Given the description of an element on the screen output the (x, y) to click on. 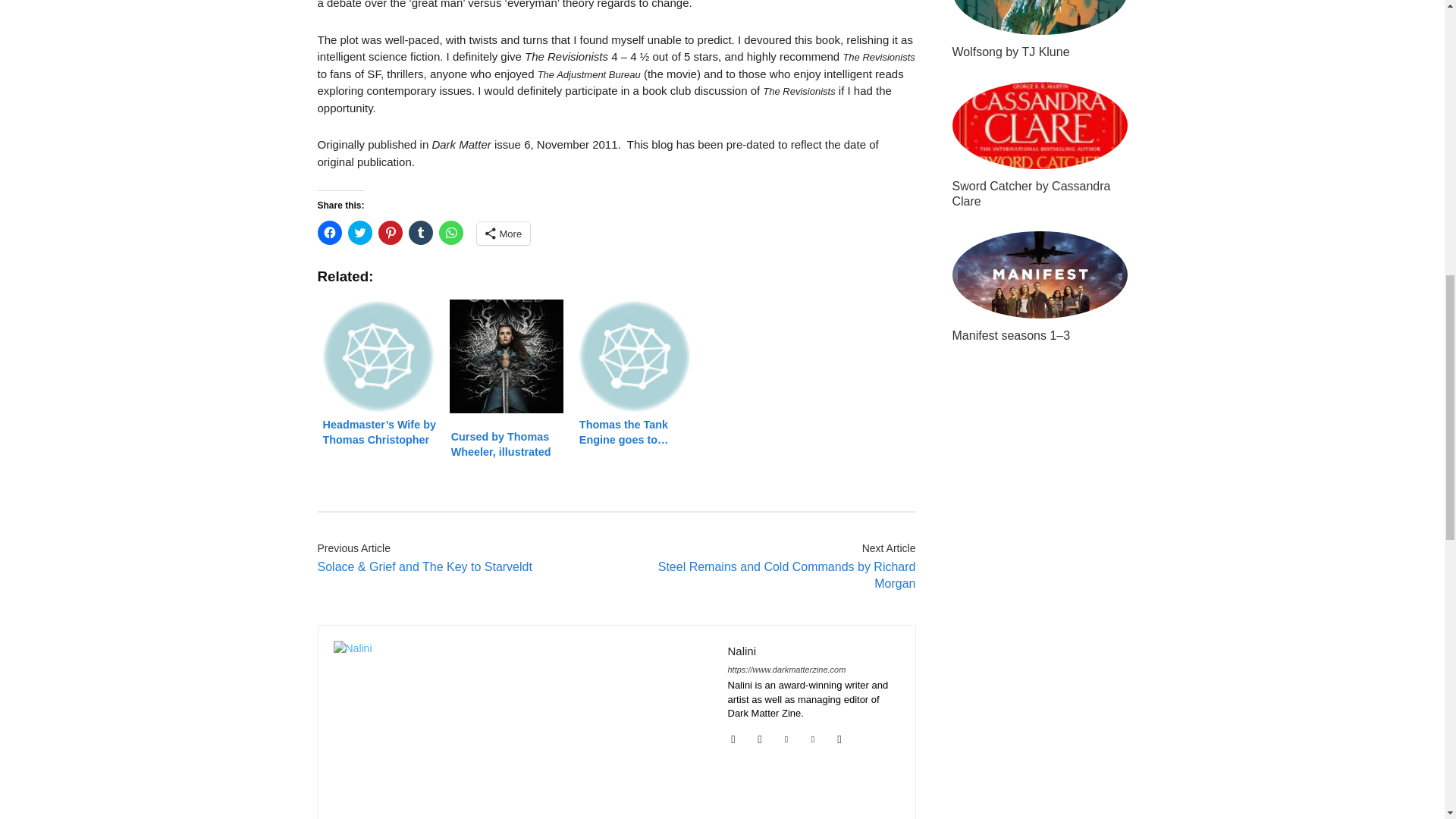
Click to share on WhatsApp (450, 232)
Click to share on Twitter (359, 232)
Click to share on Tumblr (419, 232)
Click to share on Pinterest (389, 232)
Click to share on Facebook (328, 232)
